Given the description of an element on the screen output the (x, y) to click on. 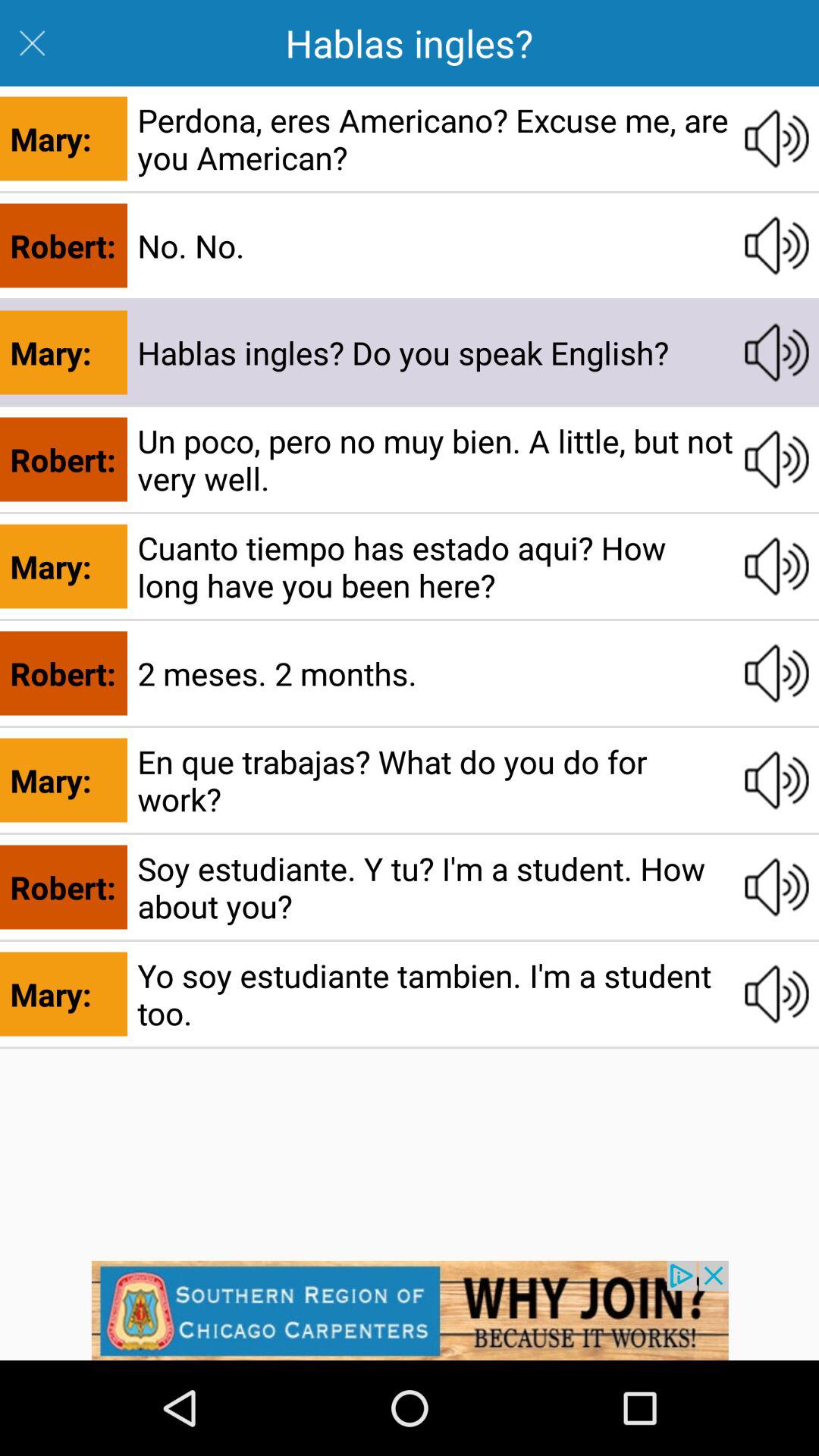
play this audio (776, 780)
